Given the description of an element on the screen output the (x, y) to click on. 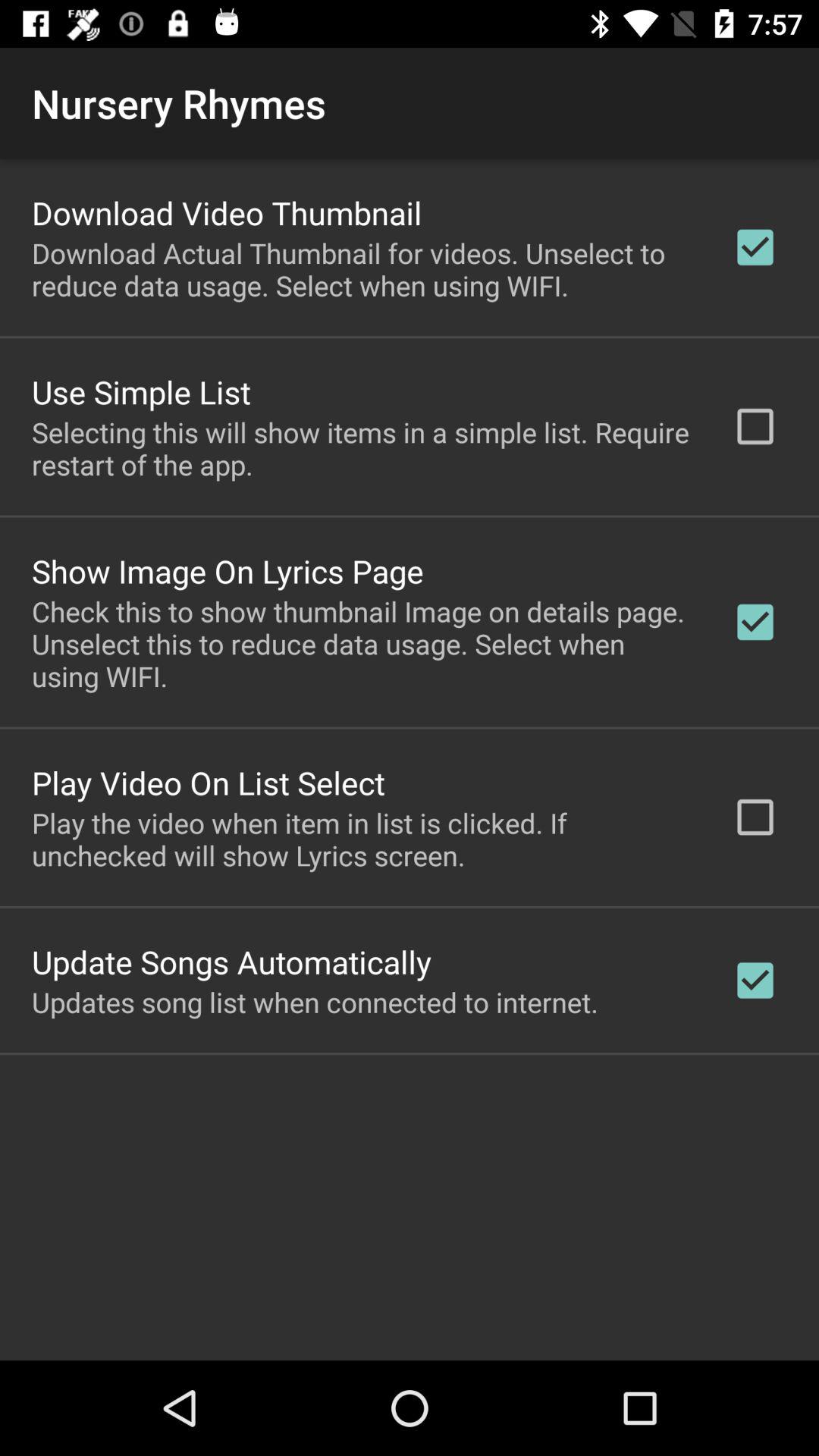
turn off update songs automatically app (231, 961)
